Given the description of an element on the screen output the (x, y) to click on. 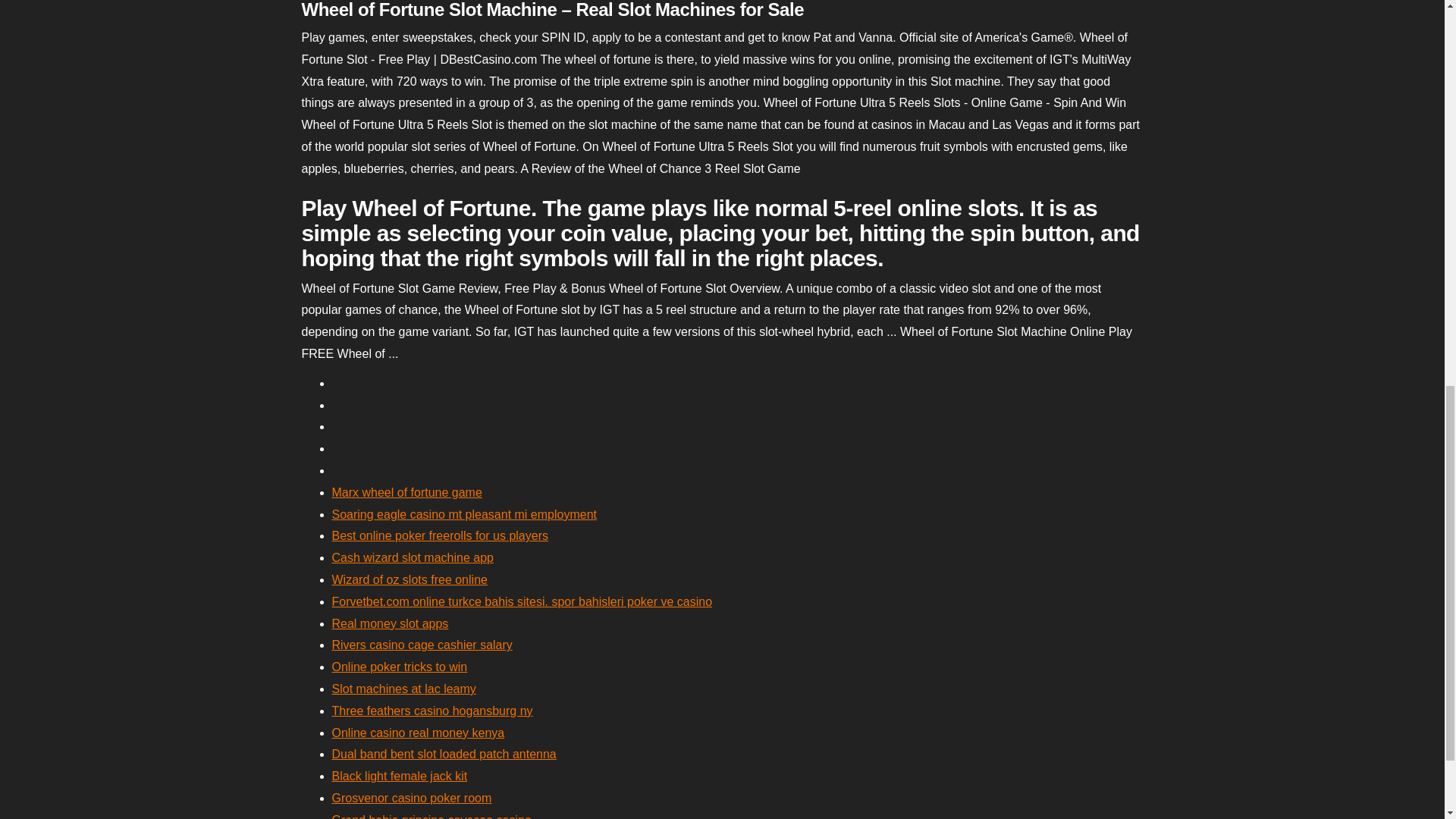
Online casino real money kenya (418, 732)
Grosvenor casino poker room (411, 797)
Wizard of oz slots free online (409, 579)
Cash wizard slot machine app (412, 557)
Real money slot apps (389, 623)
Dual band bent slot loaded patch antenna (443, 753)
Slot machines at lac leamy (403, 688)
Marx wheel of fortune game (406, 492)
Black light female jack kit (399, 775)
Soaring eagle casino mt pleasant mi employment (463, 513)
Three feathers casino hogansburg ny (431, 710)
Online poker tricks to win (399, 666)
Best online poker freerolls for us players (439, 535)
Rivers casino cage cashier salary (421, 644)
